Given the description of an element on the screen output the (x, y) to click on. 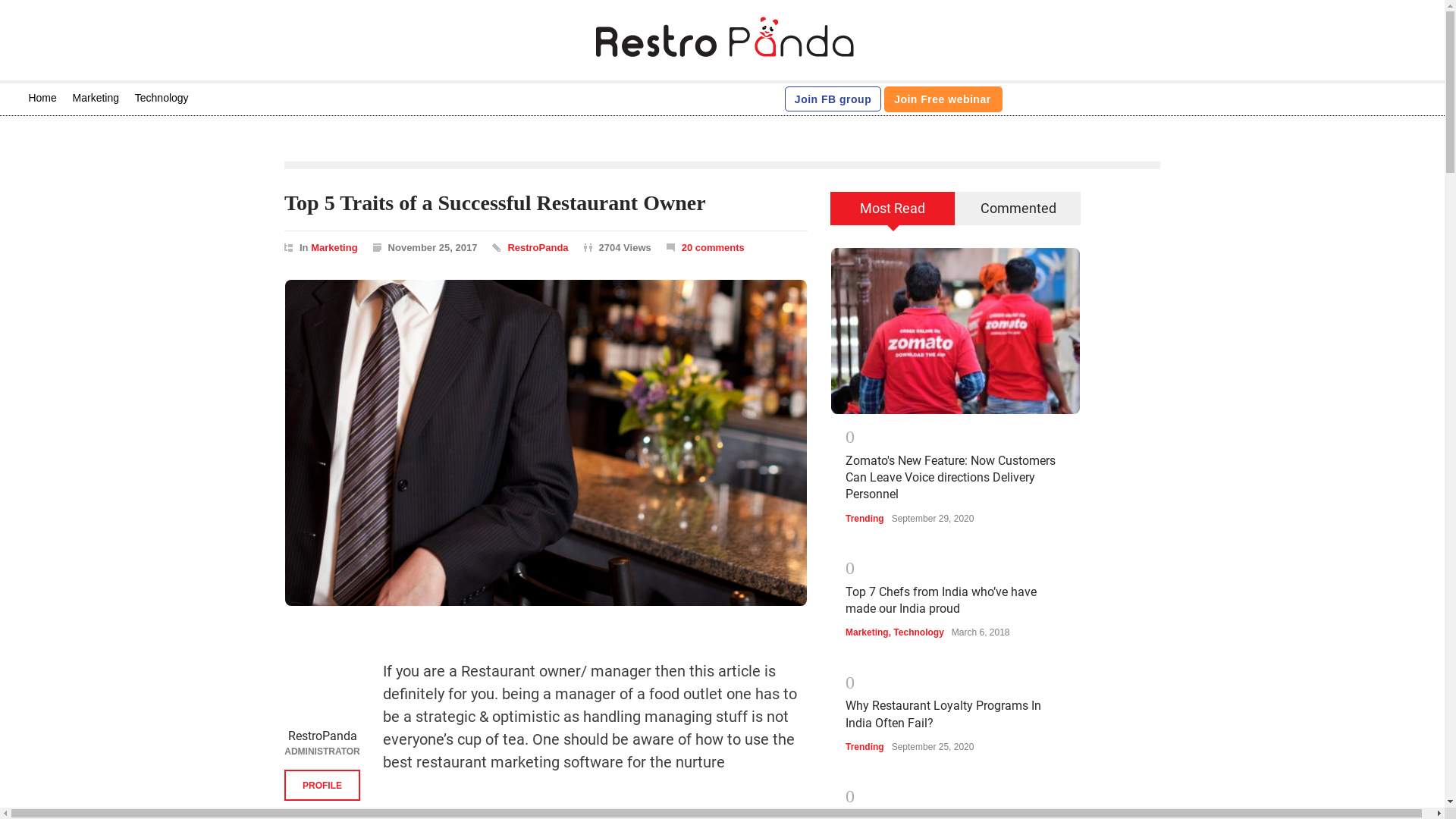
20 comments (705, 247)
Technology (161, 97)
RestroPanda (322, 735)
PROFILE (321, 784)
RestroPanda (322, 735)
20 comments (712, 247)
RestroPanda (536, 247)
Top 5 Traits of a Successful Restaurant Owner (494, 202)
20 comments (712, 247)
View all posts filed under Marketing (333, 247)
Marketing (95, 97)
Home (42, 97)
Top 5 Traits of a Successful Restaurant Owner (494, 202)
Join FB group (832, 98)
